Given the description of an element on the screen output the (x, y) to click on. 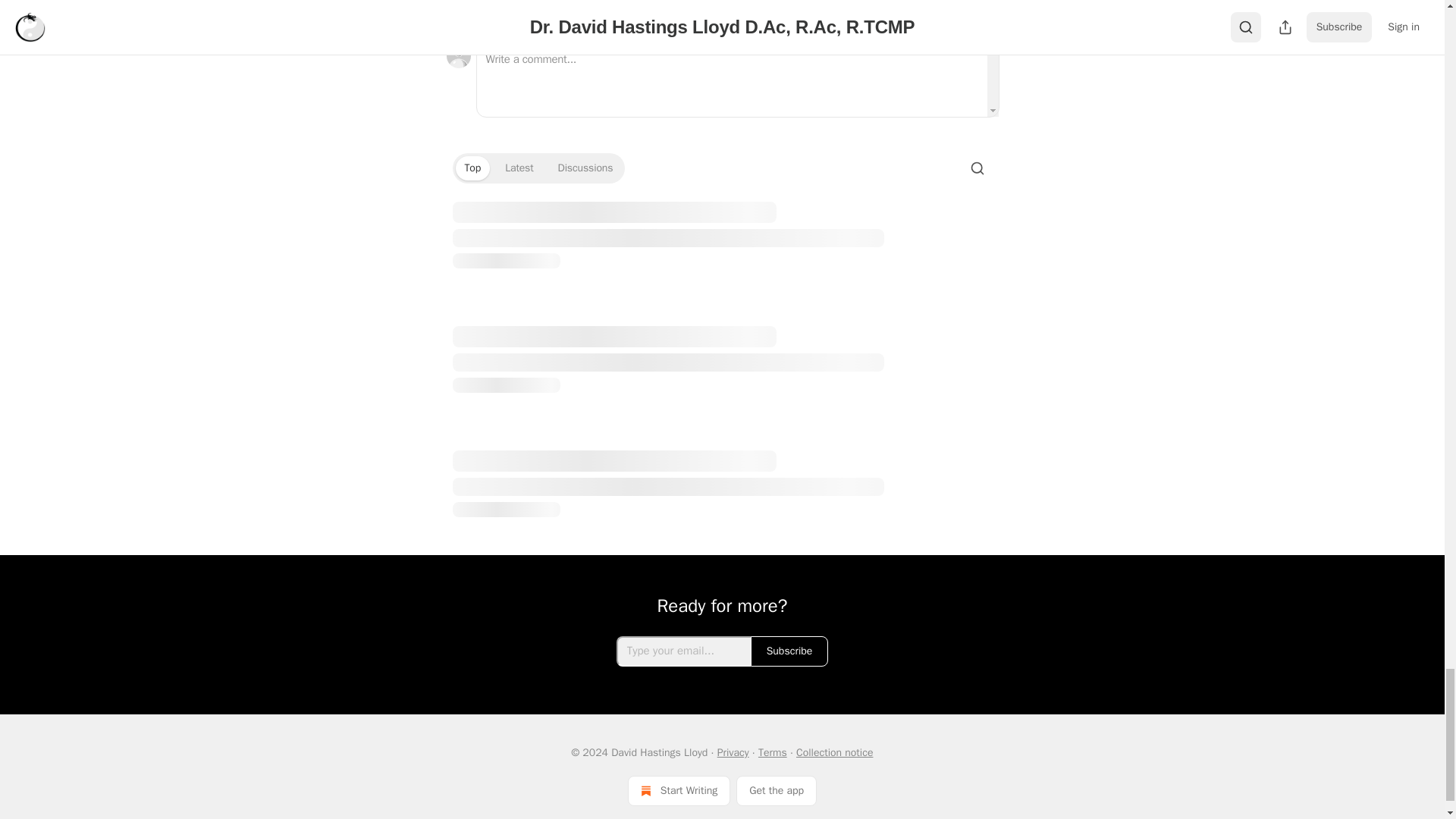
Latest (518, 168)
Top (471, 168)
